Given the description of an element on the screen output the (x, y) to click on. 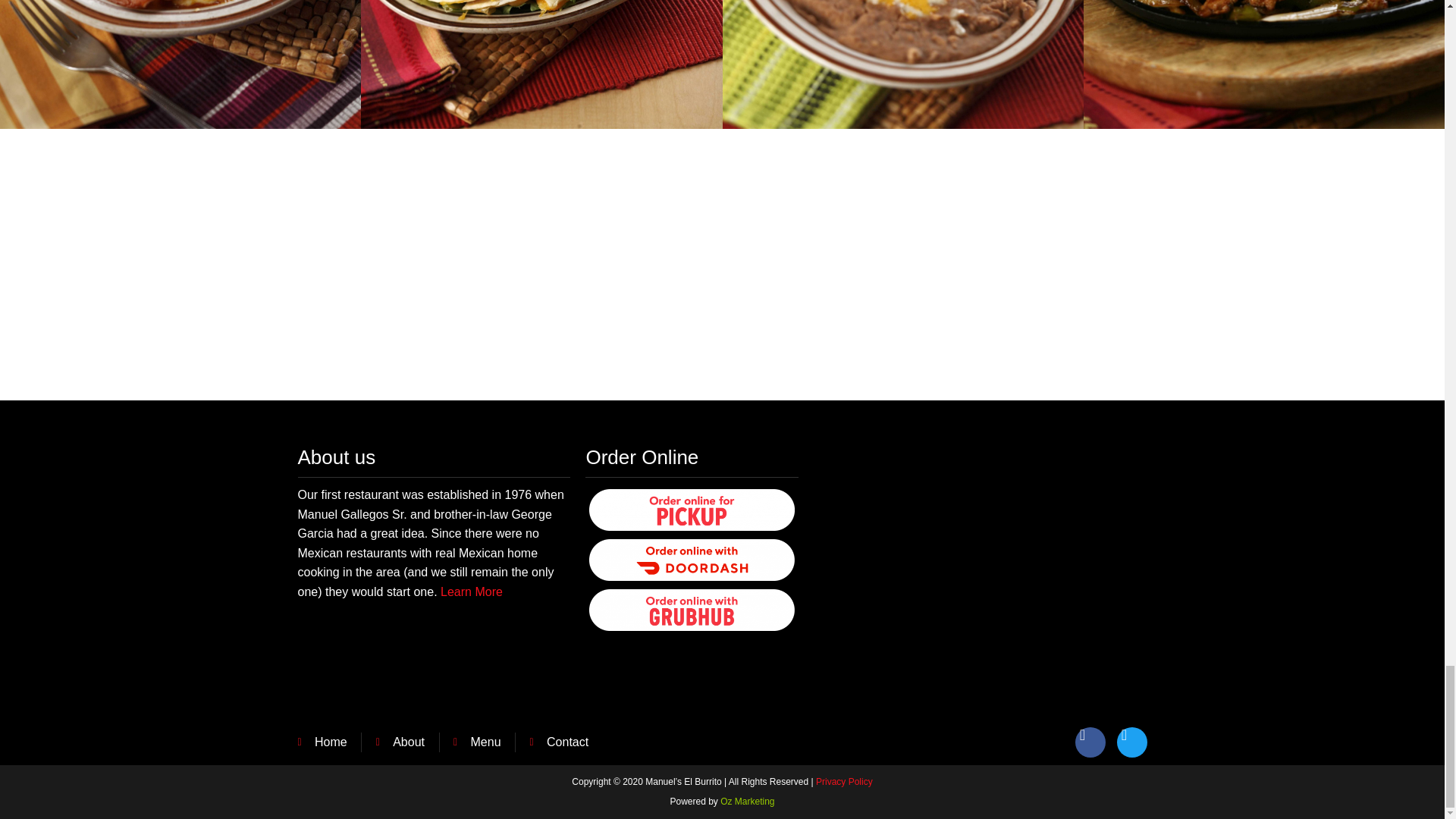
Menu (476, 742)
Home (321, 742)
Privacy Policy (843, 781)
Learn More (471, 591)
Contact (559, 742)
Oz Marketing (747, 801)
About (400, 742)
